Given the description of an element on the screen output the (x, y) to click on. 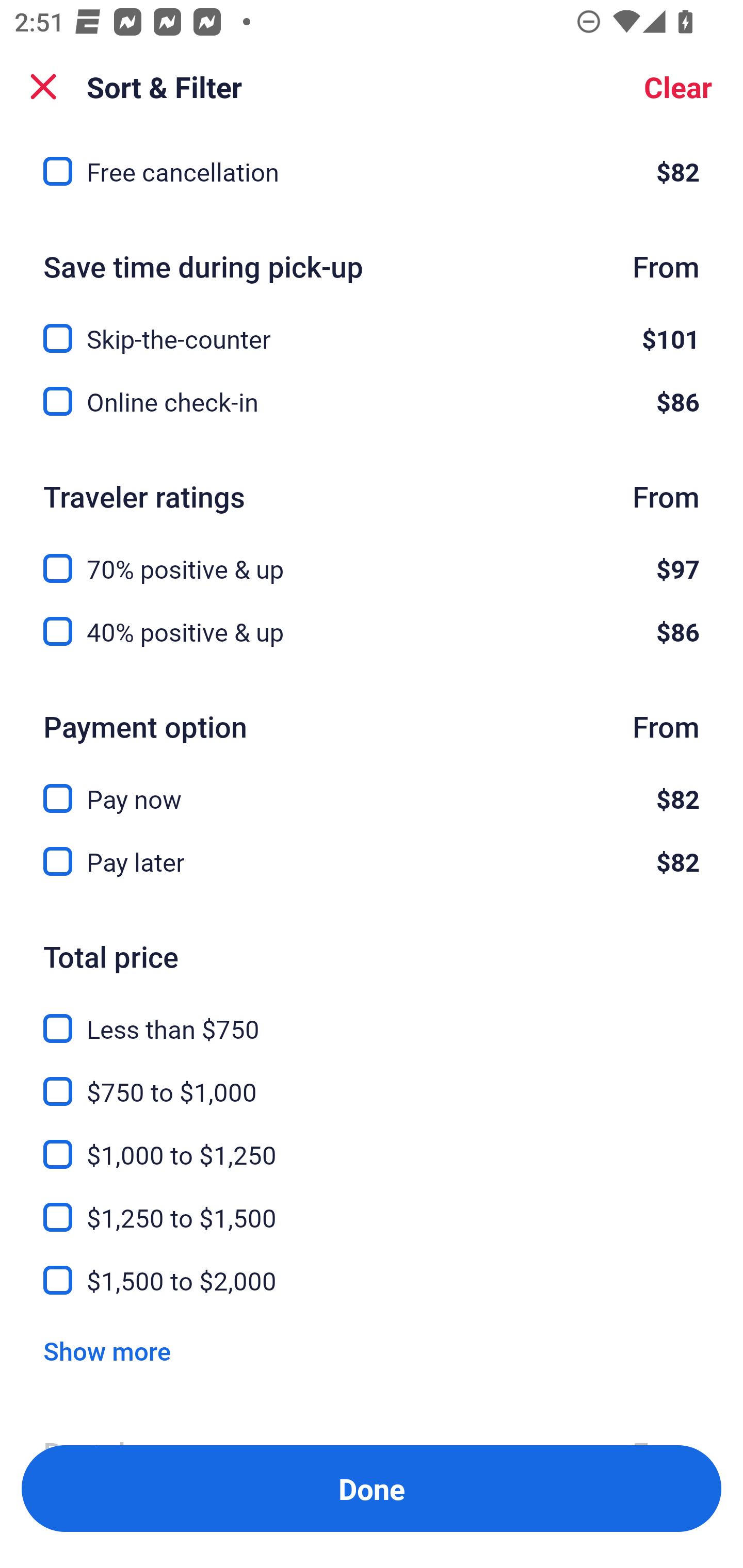
Close Sort and Filter (43, 86)
Clear (677, 86)
Free cancellation, $82 Free cancellation $82 (371, 172)
Skip-the-counter, $101 Skip-the-counter $101 (371, 326)
Online check-in, $86 Online check-in $86 (371, 402)
70% positive & up, $97 70% positive & up $97 (371, 556)
40% positive & up, $86 40% positive & up $86 (371, 631)
Pay now, $82 Pay now $82 (371, 786)
Pay later, $82 Pay later $82 (371, 861)
Less than $750, Less than $750 (371, 1017)
$750 to $1,000, $750 to $1,000 (371, 1079)
$1,000 to $1,250, $1,000 to $1,250 (371, 1142)
$1,250 to $1,500, $1,250 to $1,500 (371, 1205)
$1,500 to $2,000, $1,500 to $2,000 (371, 1280)
Show more Show more Link (106, 1350)
Apply and close Sort and Filter Done (371, 1488)
